Given the description of an element on the screen output the (x, y) to click on. 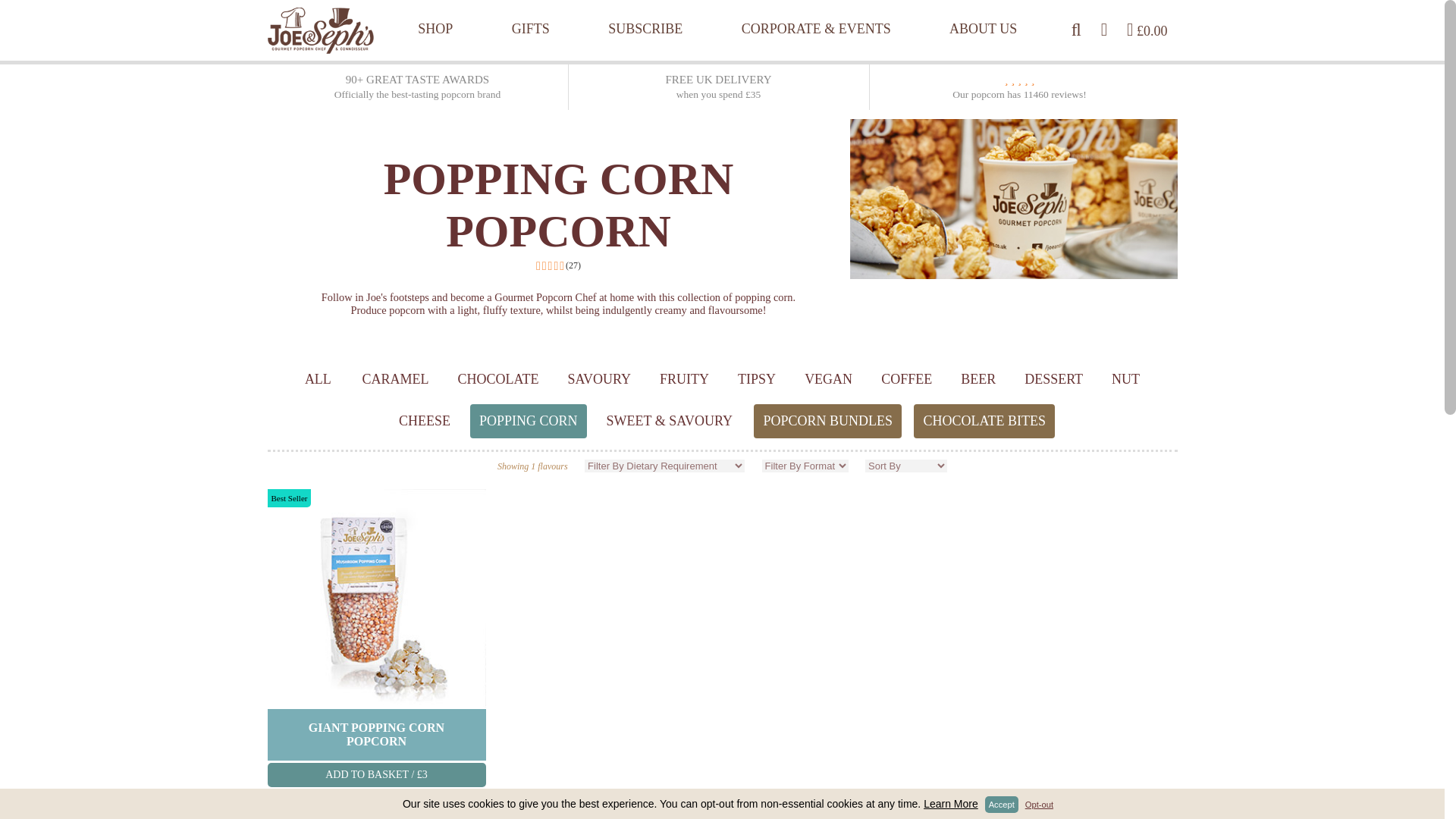
SHOP (434, 10)
GIFTS (531, 10)
SUBSCRIBE (645, 10)
4.74 Stars - 27 (558, 268)
ABOUT US (982, 10)
4.74 Stars - 27 (375, 801)
